Given the description of an element on the screen output the (x, y) to click on. 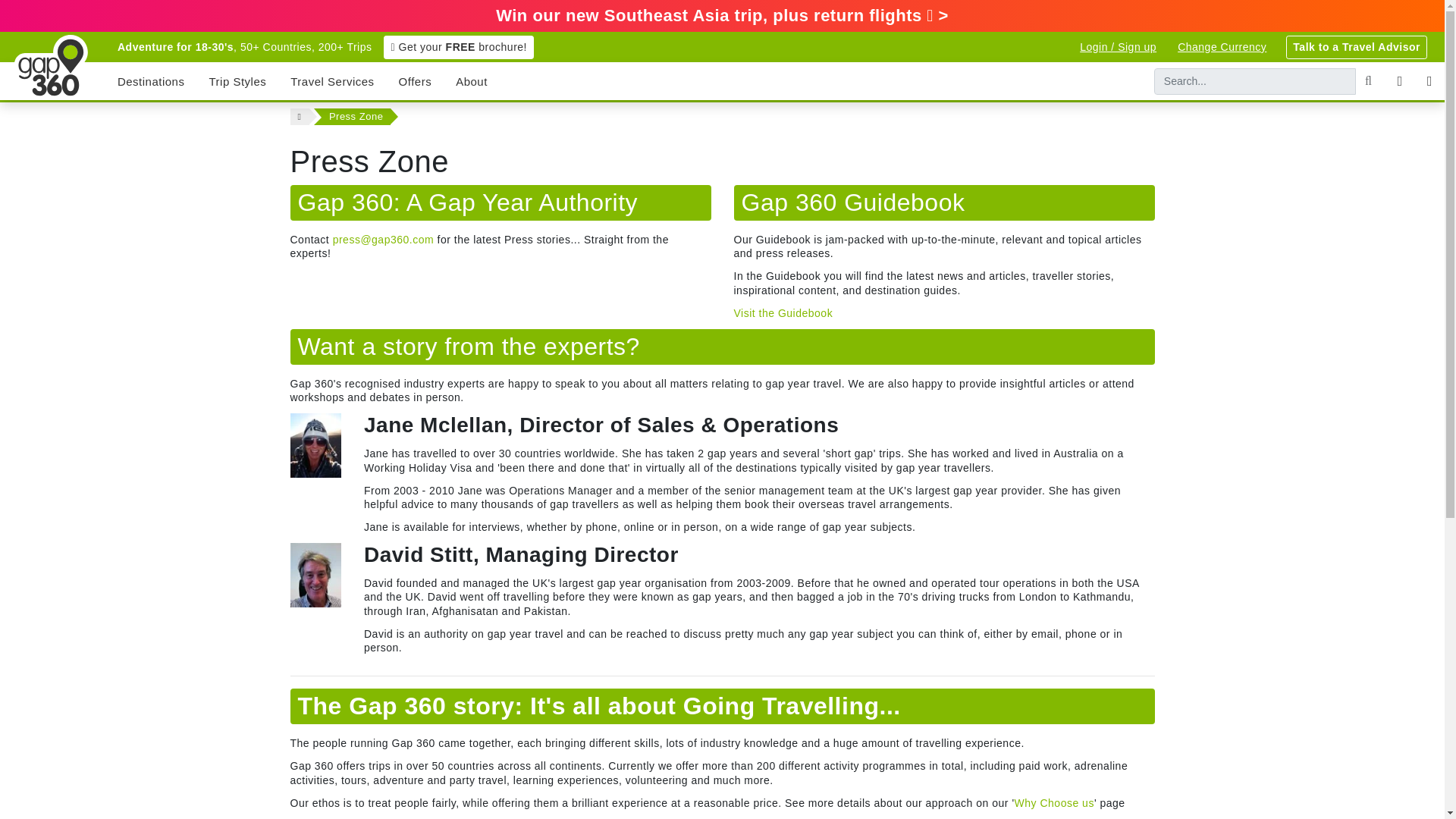
Change Currency (1222, 46)
View all our destinations (150, 80)
Get your FREE brochure! (459, 46)
Destinations (150, 80)
Talk to a Travel Advisor (1355, 46)
